Given the description of an element on the screen output the (x, y) to click on. 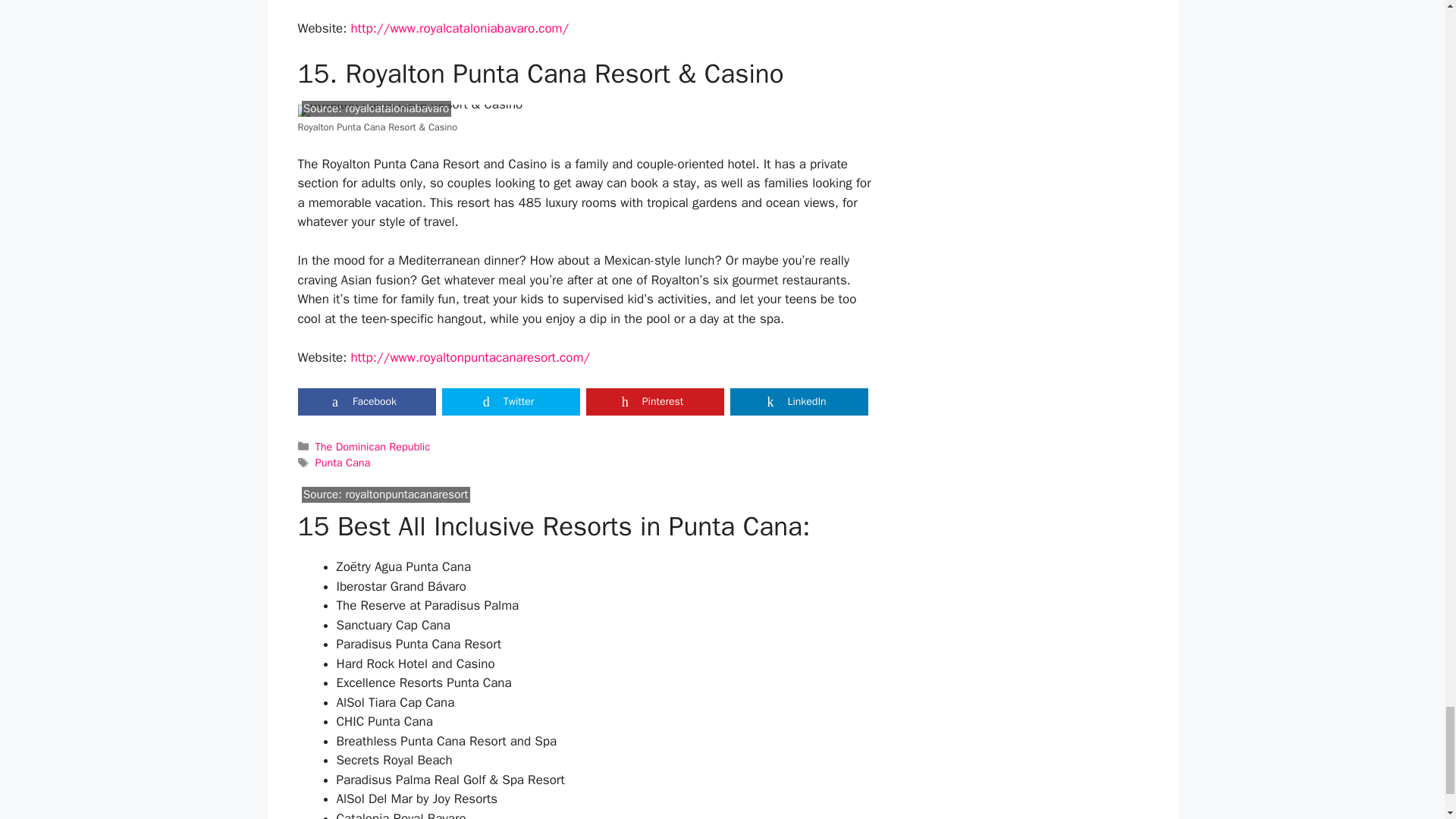
Share on Twitter (510, 401)
Share on Pinterest (654, 401)
Share on LinkedIn (798, 401)
Share on Facebook (366, 401)
